Given the description of an element on the screen output the (x, y) to click on. 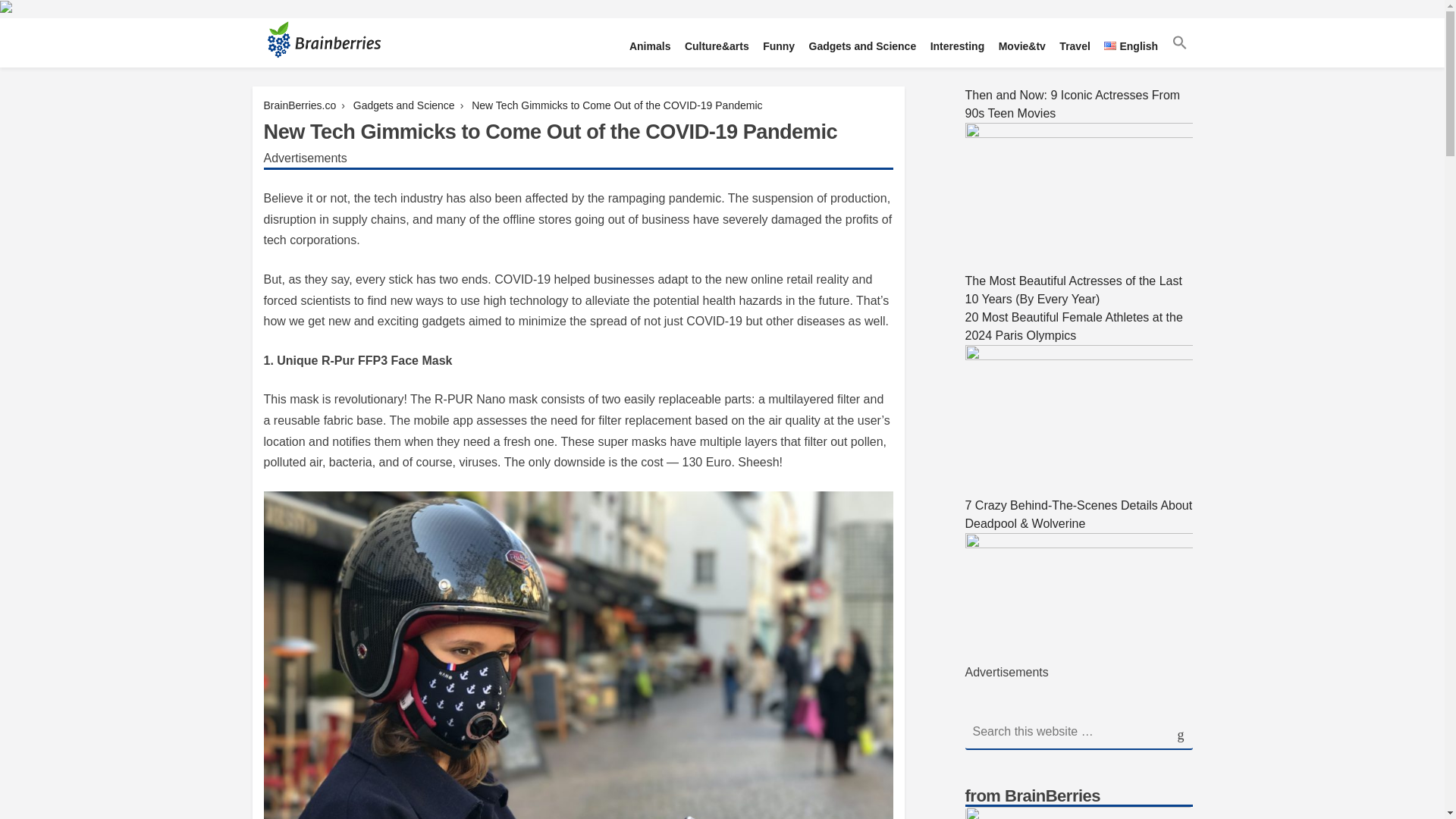
Then and Now: 9 Iconic Actresses From 90s Teen Movies (1077, 114)
Interesting (957, 47)
English (1131, 47)
Animals (649, 47)
Gadgets and Science (862, 47)
BrainBerries.co (299, 105)
New Tech Gimmicks to Come Out of the COVID-19 Pandemic (616, 105)
Brain Berries (301, 85)
Gadgets and Science (403, 105)
